Given the description of an element on the screen output the (x, y) to click on. 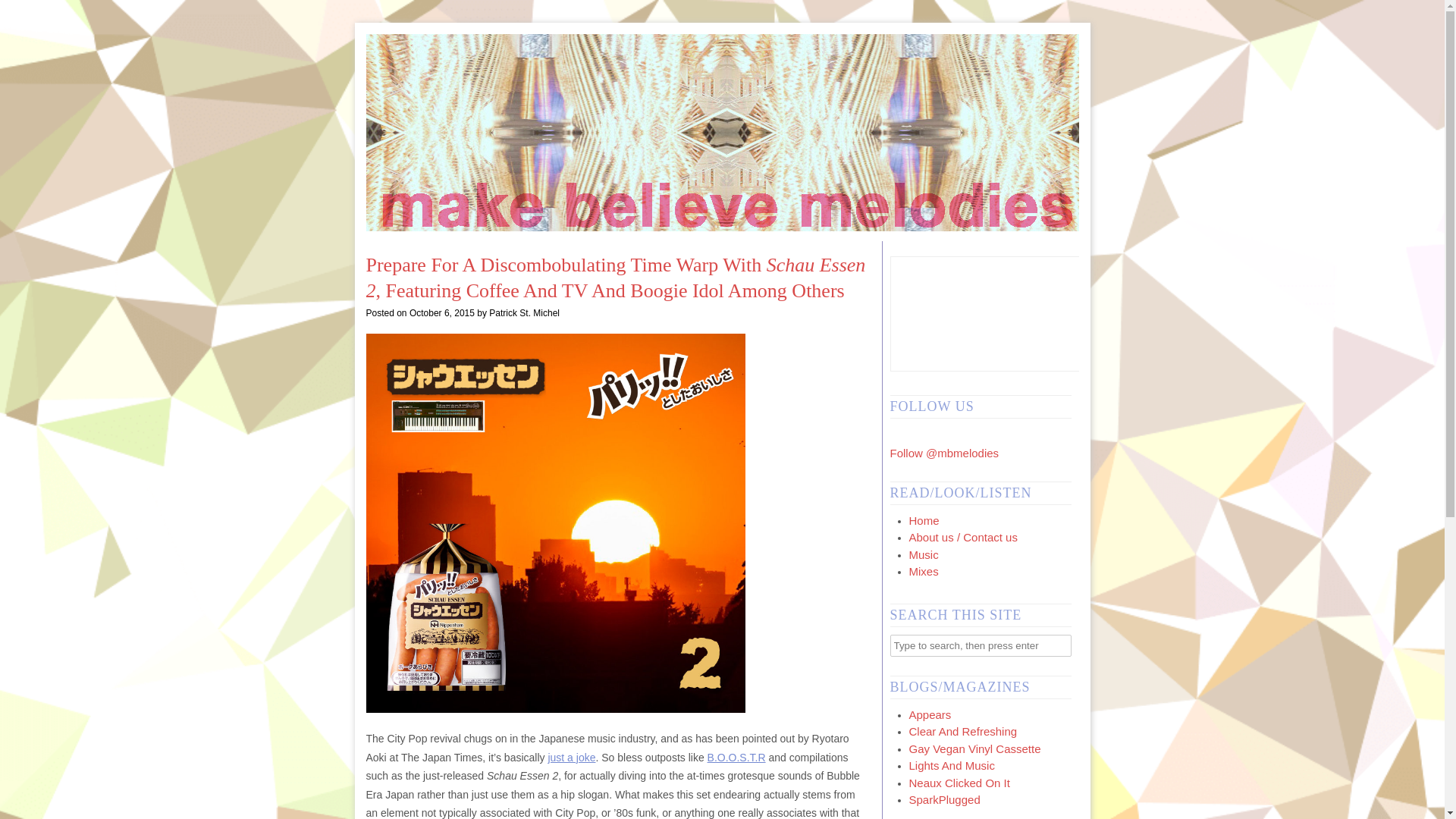
Search (23, 10)
Home (923, 520)
SparkPlugged (943, 799)
Lights And Music (951, 765)
Mixes (922, 571)
Clear And Refreshing (962, 730)
just a joke (571, 757)
Patrick St. Michel (524, 312)
Type to search, then press enter (980, 644)
B.O.O.S.T.R (736, 757)
